Given the description of an element on the screen output the (x, y) to click on. 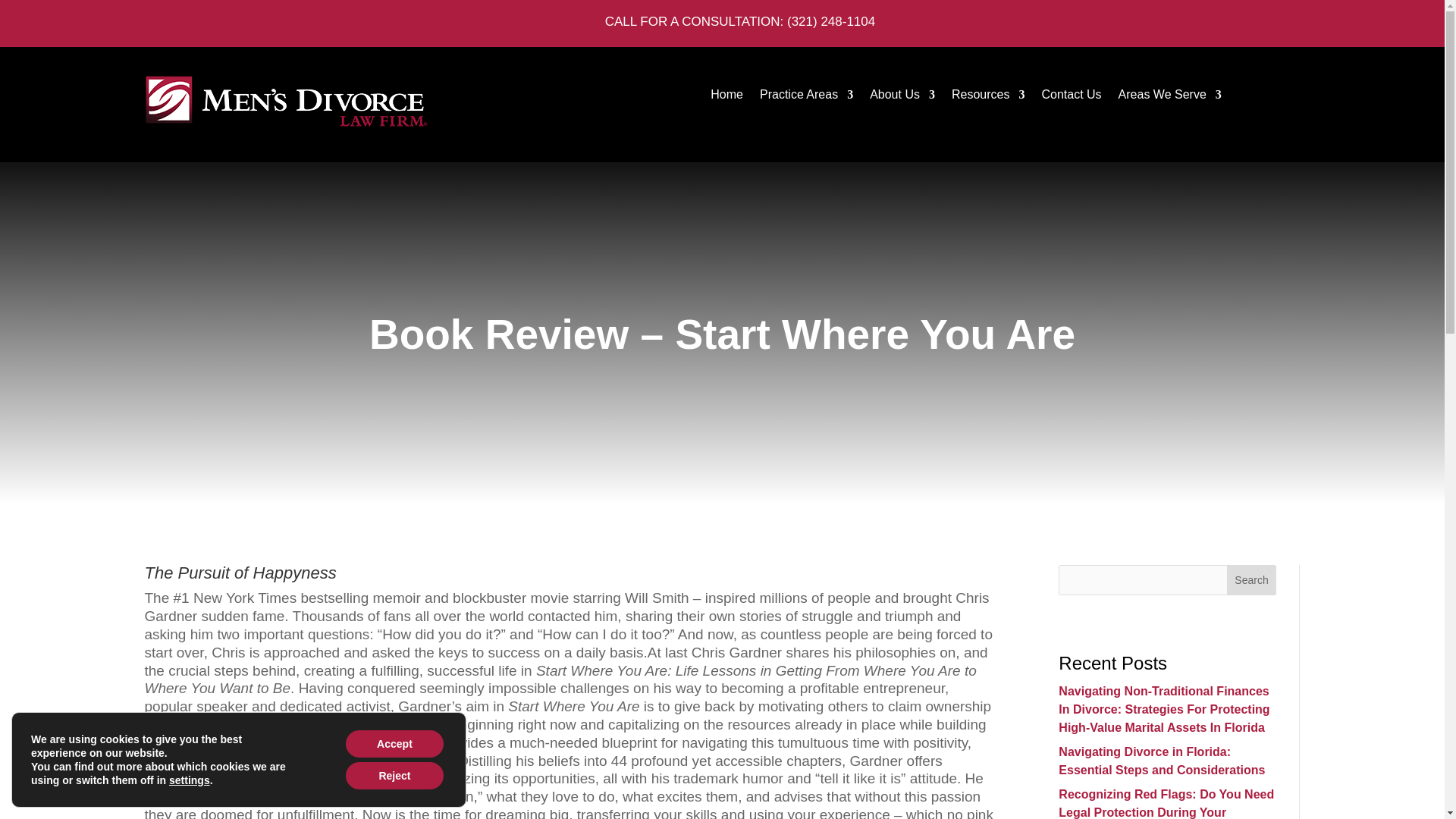
Areas We Serve (1169, 97)
Resources (988, 97)
Practice Areas (806, 97)
mens-divorce-law-firm-logo (285, 101)
Home (726, 97)
Contact Us (1070, 97)
About Us (901, 97)
